Given the description of an element on the screen output the (x, y) to click on. 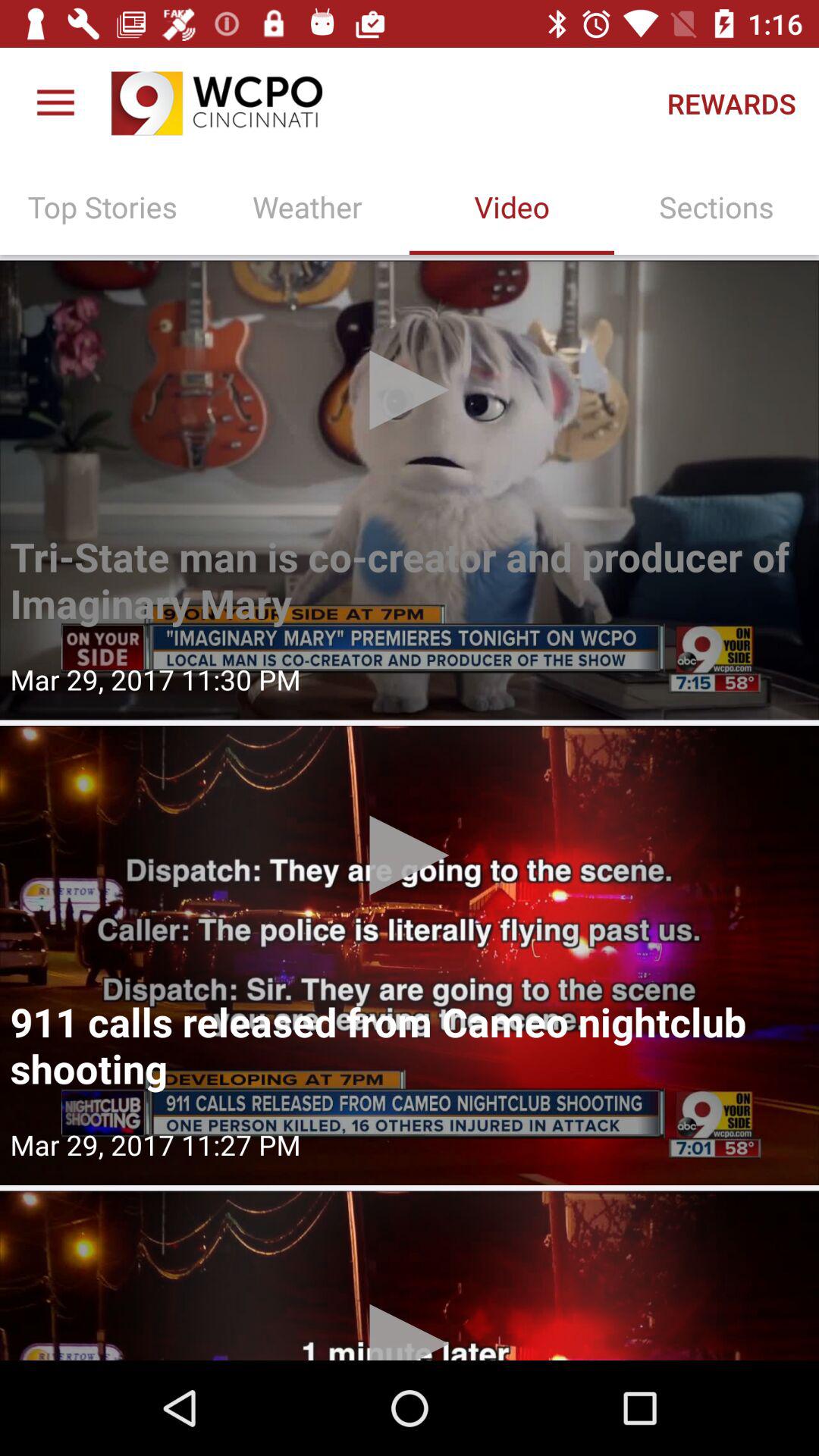
tap the rewards icon (731, 103)
